Given the description of an element on the screen output the (x, y) to click on. 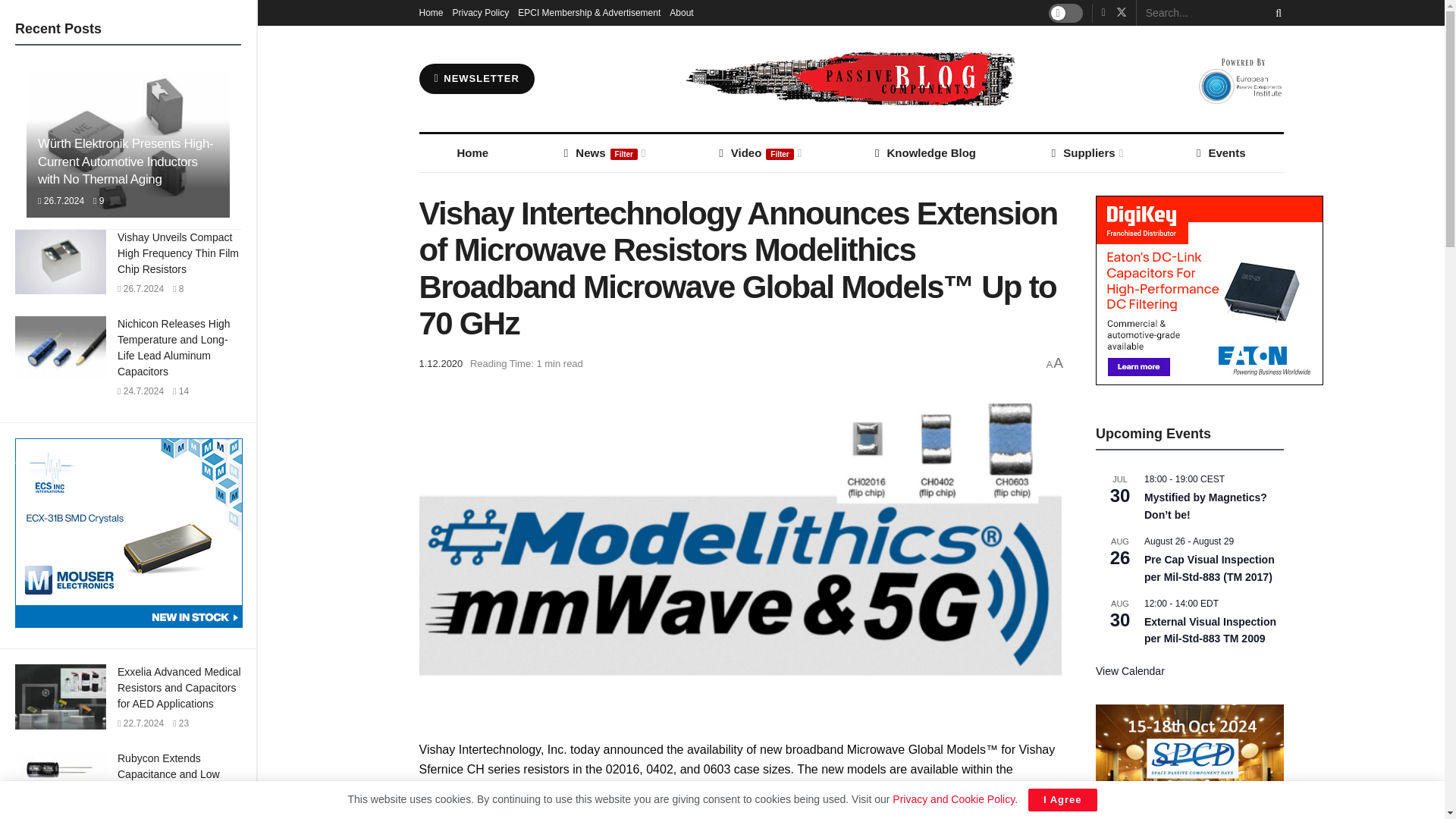
24.7.2024 (140, 390)
22.7.2024 (140, 723)
26.7.2024 (60, 200)
View more events. (1130, 671)
advertisement (128, 533)
8 (178, 288)
14 (181, 390)
Privacy Policy (480, 12)
23 (181, 723)
26.7.2024 (140, 288)
Home (430, 12)
External Visual Inspection per Mil-Std-883 TM 2009 (1210, 630)
